Given the description of an element on the screen output the (x, y) to click on. 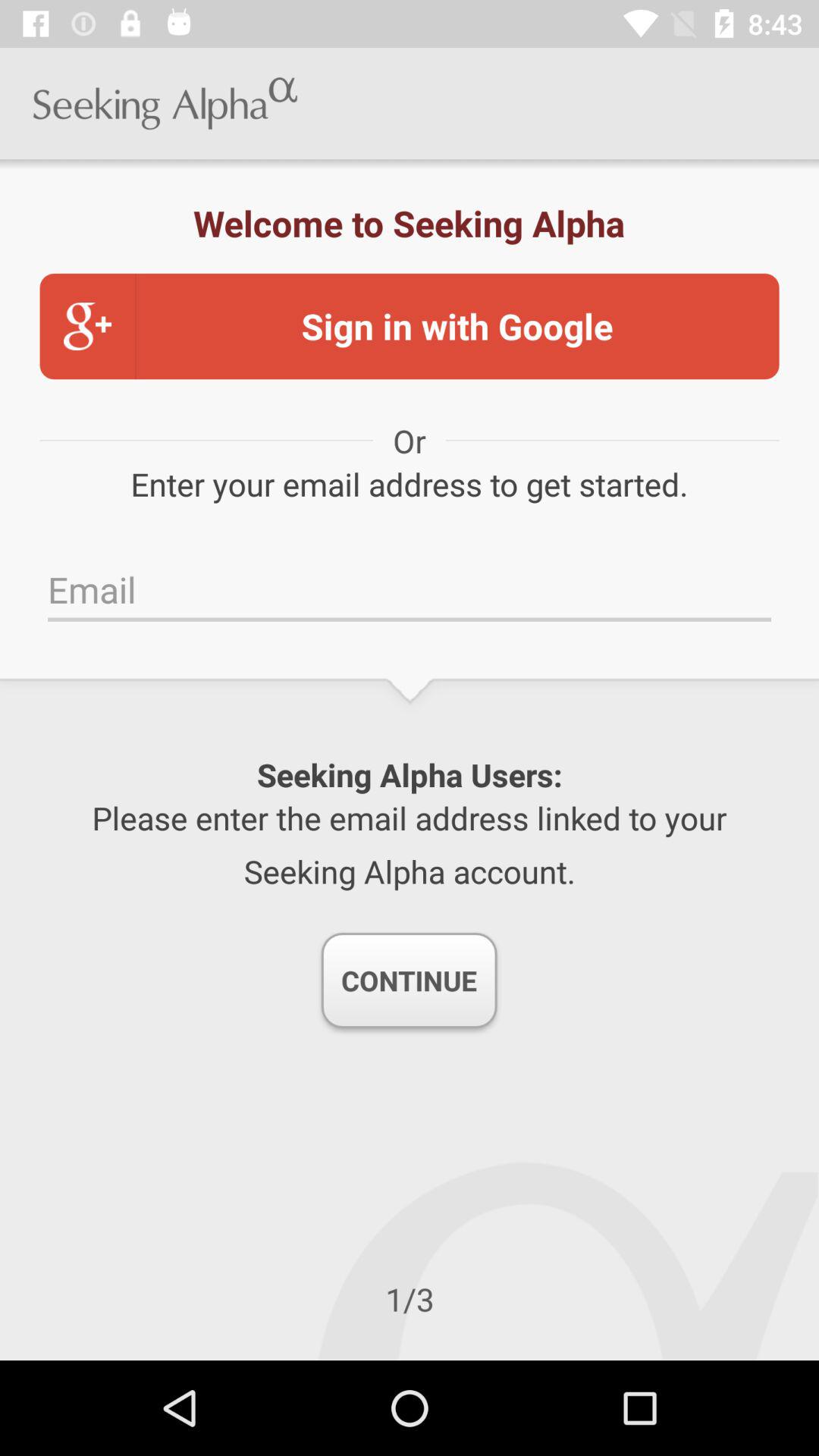
click the item below please enter the item (409, 980)
